Given the description of an element on the screen output the (x, y) to click on. 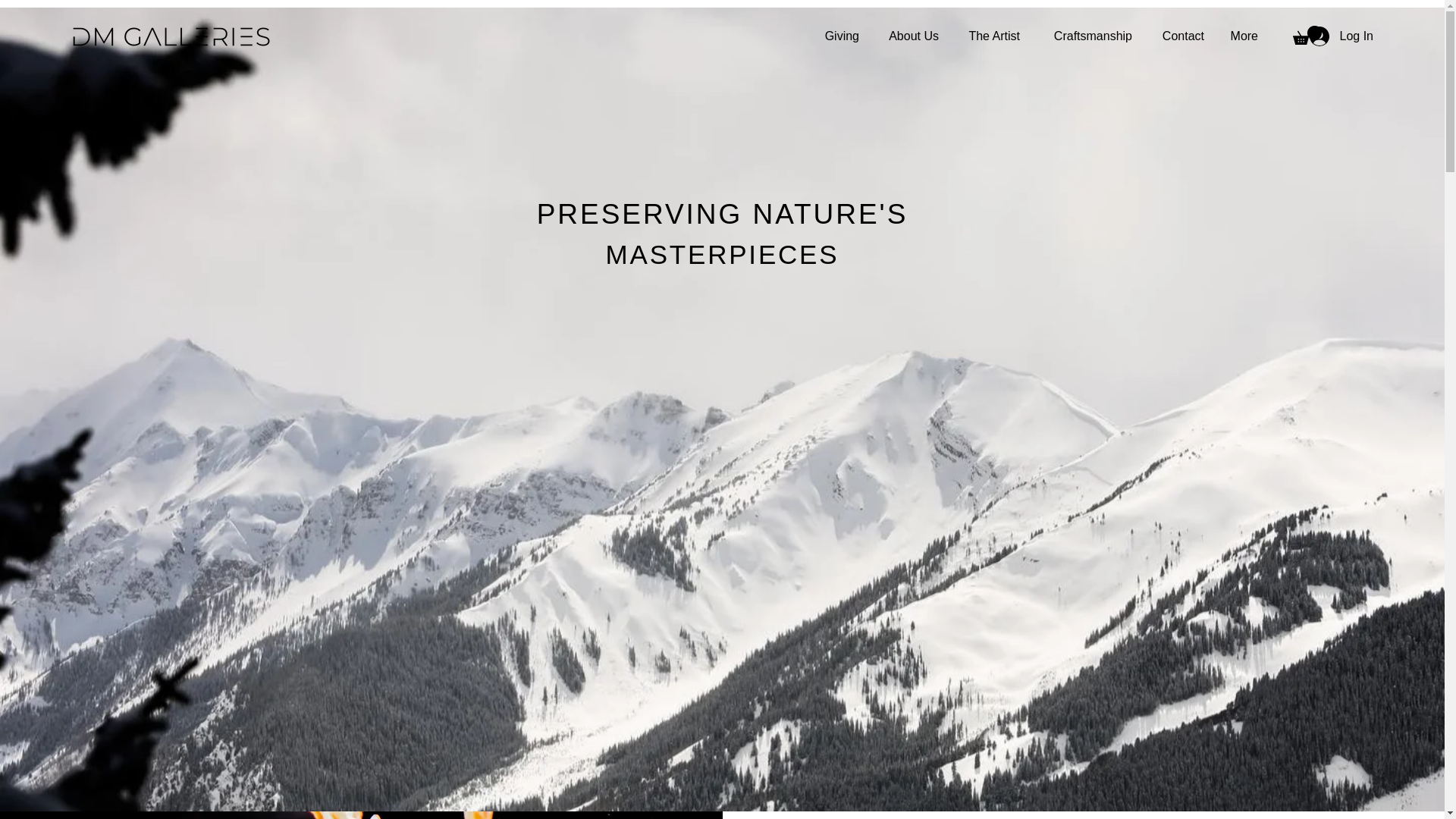
About Us (910, 36)
transparent.png (169, 36)
Craftsmanship (1086, 36)
The Artist (990, 36)
Log In (1341, 36)
Contact (1178, 36)
Giving (839, 36)
